Given the description of an element on the screen output the (x, y) to click on. 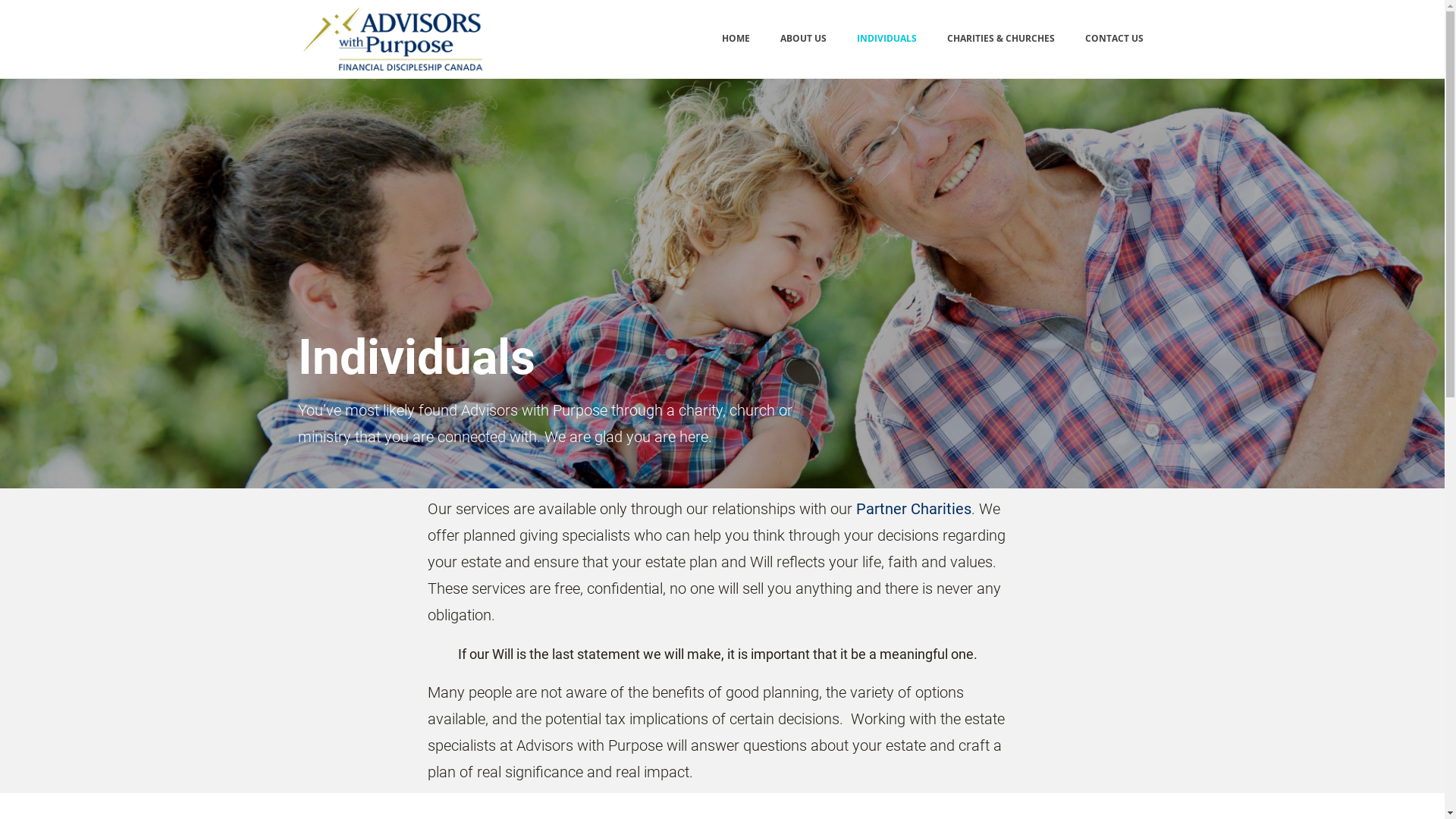
Partner Charities Element type: text (913, 508)
HOME Element type: text (735, 39)
CONTACT US Element type: text (1114, 39)
CHARITIES & CHURCHES Element type: text (1000, 39)
ABOUT US Element type: text (803, 39)
INDIVIDUALS Element type: text (885, 39)
